Given the description of an element on the screen output the (x, y) to click on. 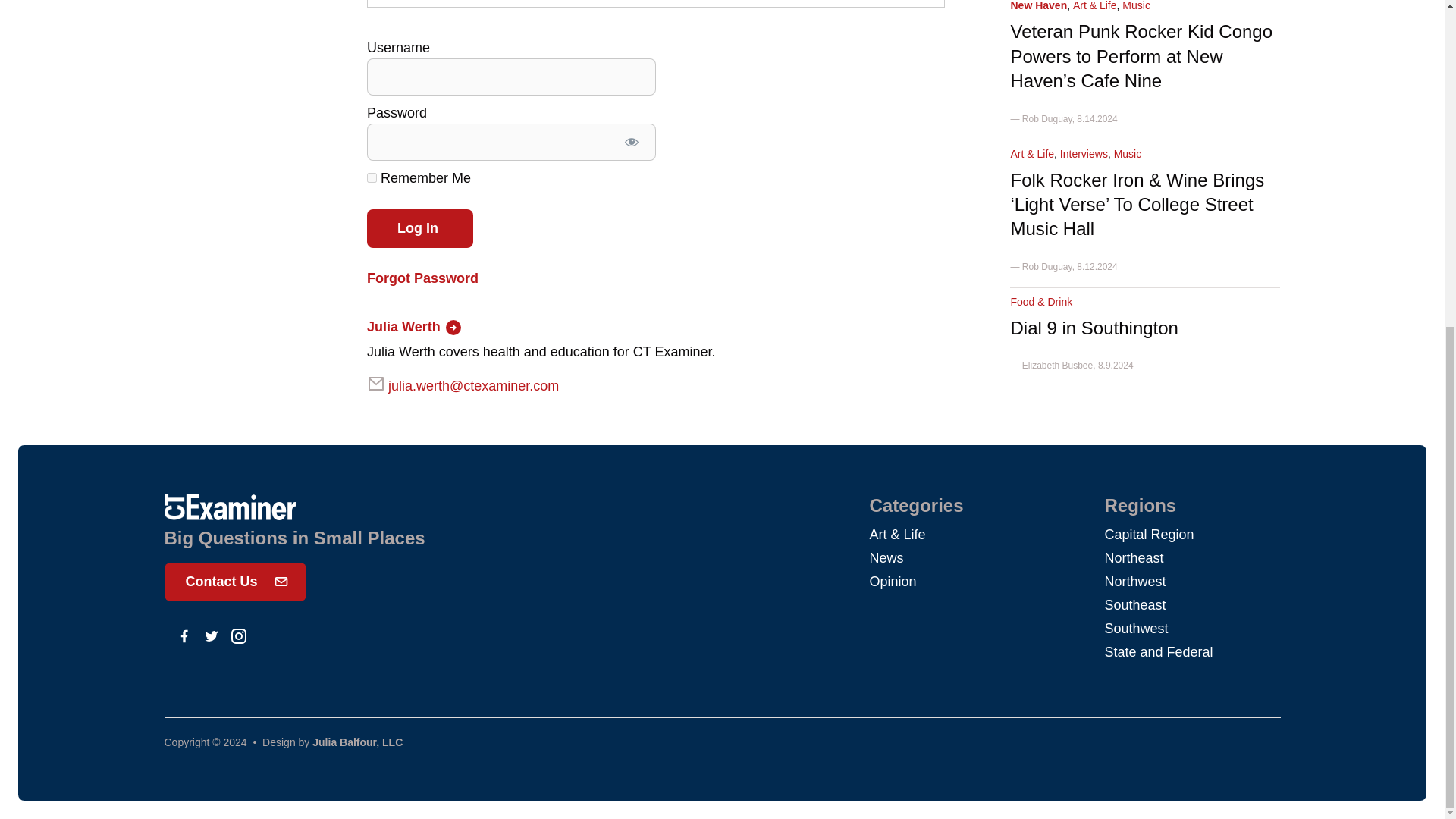
forever (371, 177)
instagram (238, 635)
facebook (183, 635)
Log In (419, 228)
twitter (210, 635)
